Given the description of an element on the screen output the (x, y) to click on. 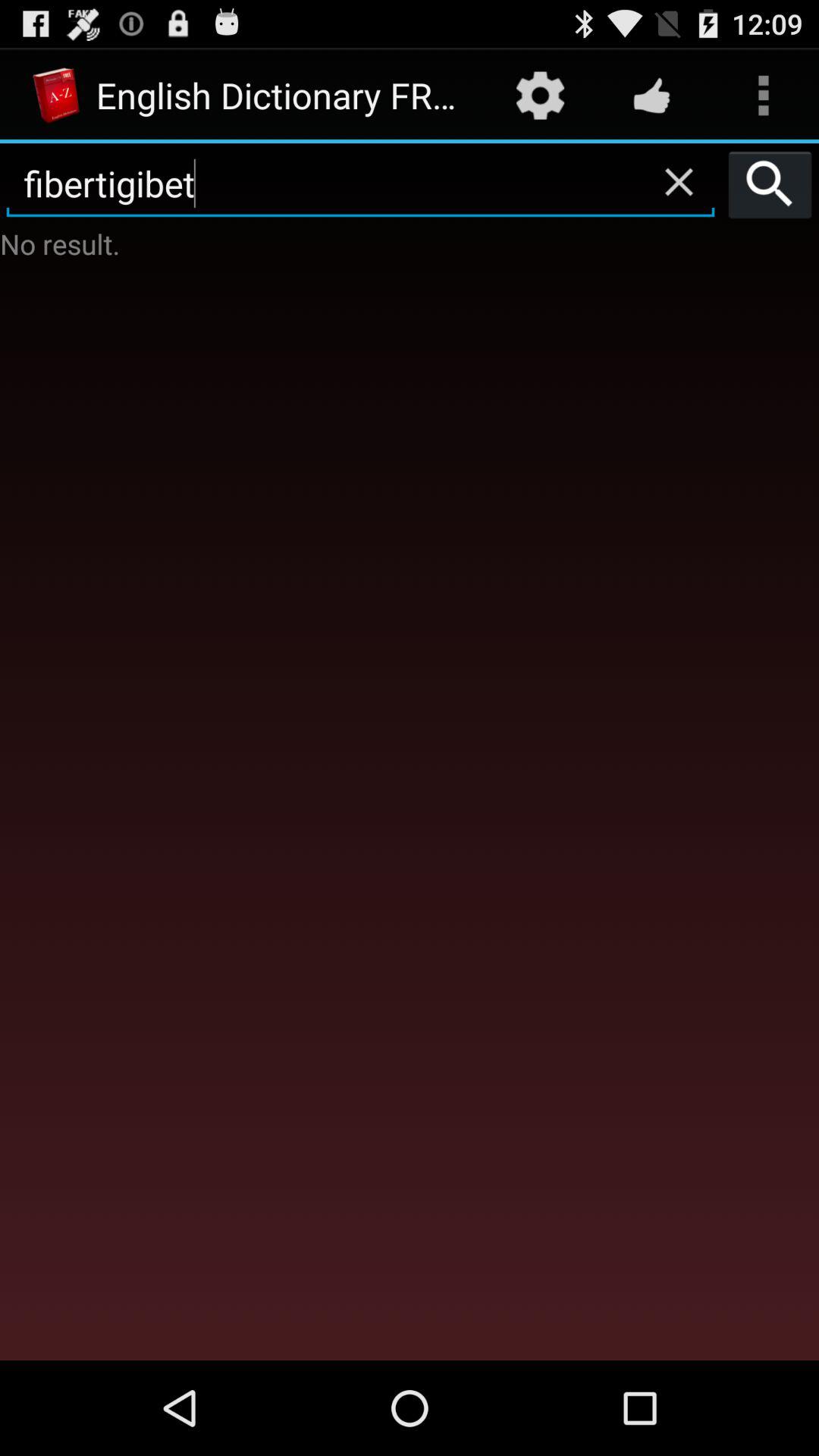
choose item above the fibertigibet item (651, 95)
